Given the description of an element on the screen output the (x, y) to click on. 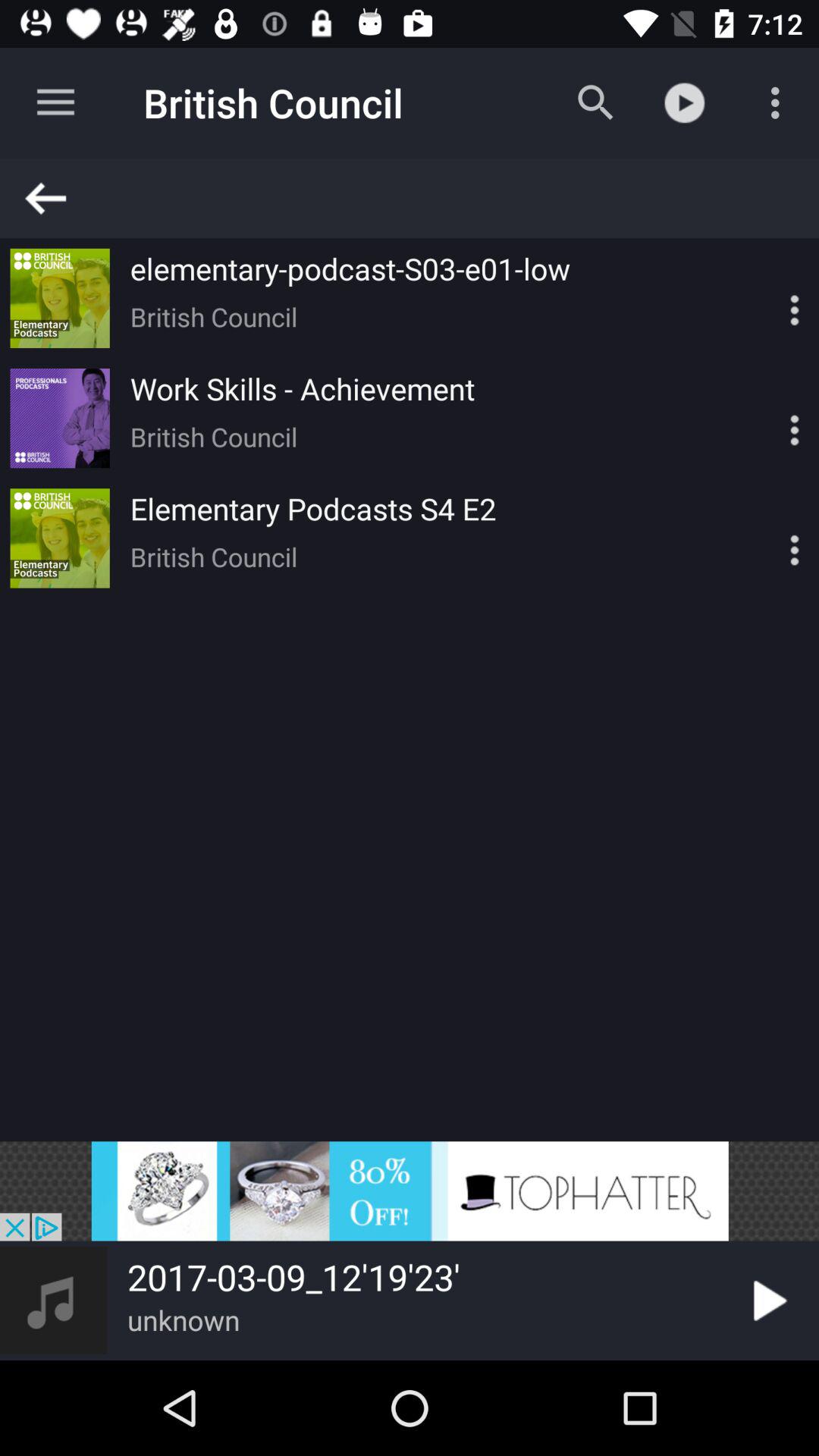
go back button (416, 198)
